Given the description of an element on the screen output the (x, y) to click on. 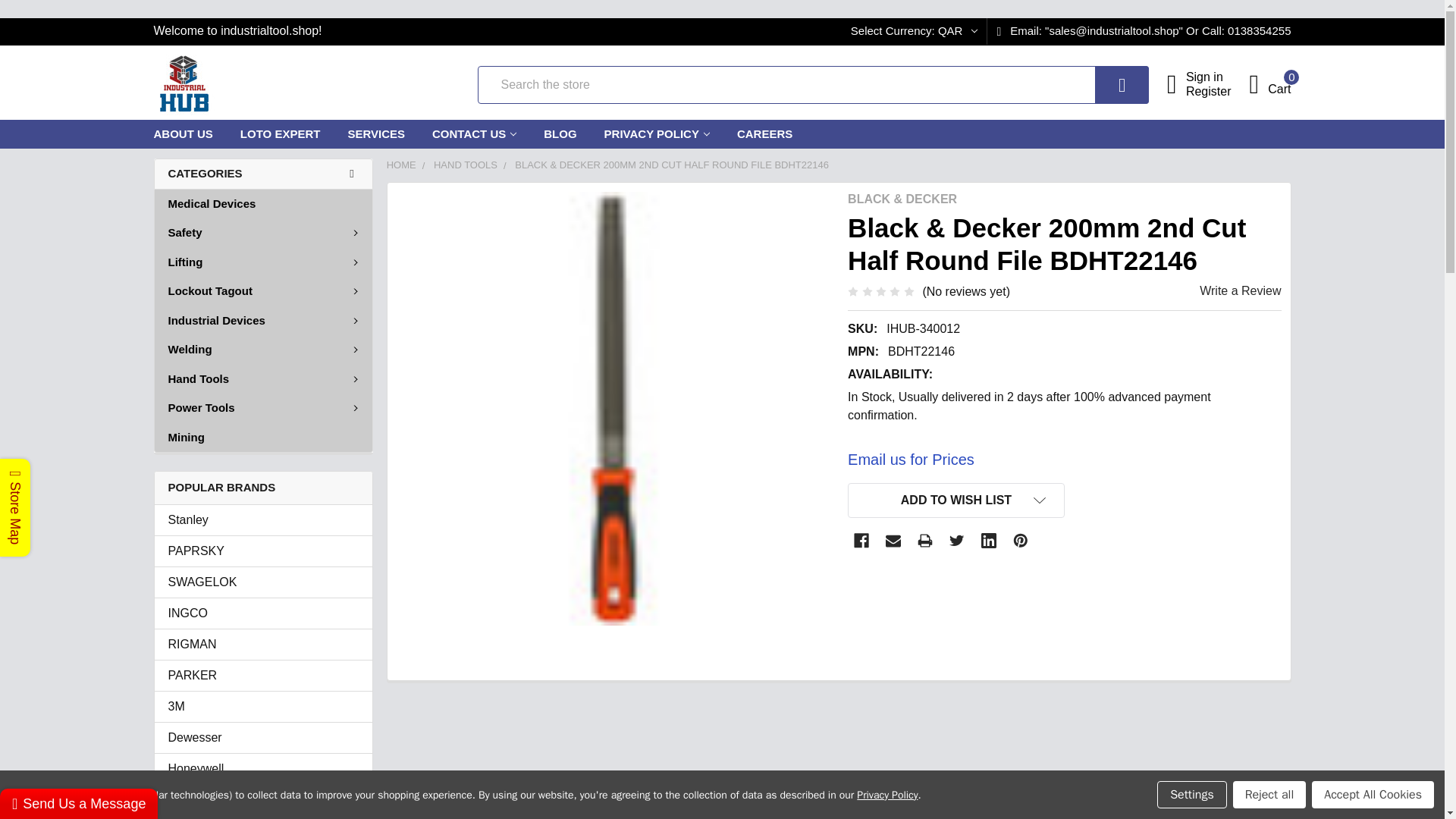
Cart (1269, 84)
PARKER (263, 675)
 INGCO (263, 613)
SWAGELOK (263, 582)
Register (1217, 91)
 DeWalt (263, 800)
RIGMAN (263, 644)
Dewesser (263, 737)
Sign in (1217, 77)
INDUSTRIAL DEVICES  (183, 84)
Honeywell (263, 769)
3M (1269, 84)
Stanley (263, 706)
Search (263, 520)
